Given the description of an element on the screen output the (x, y) to click on. 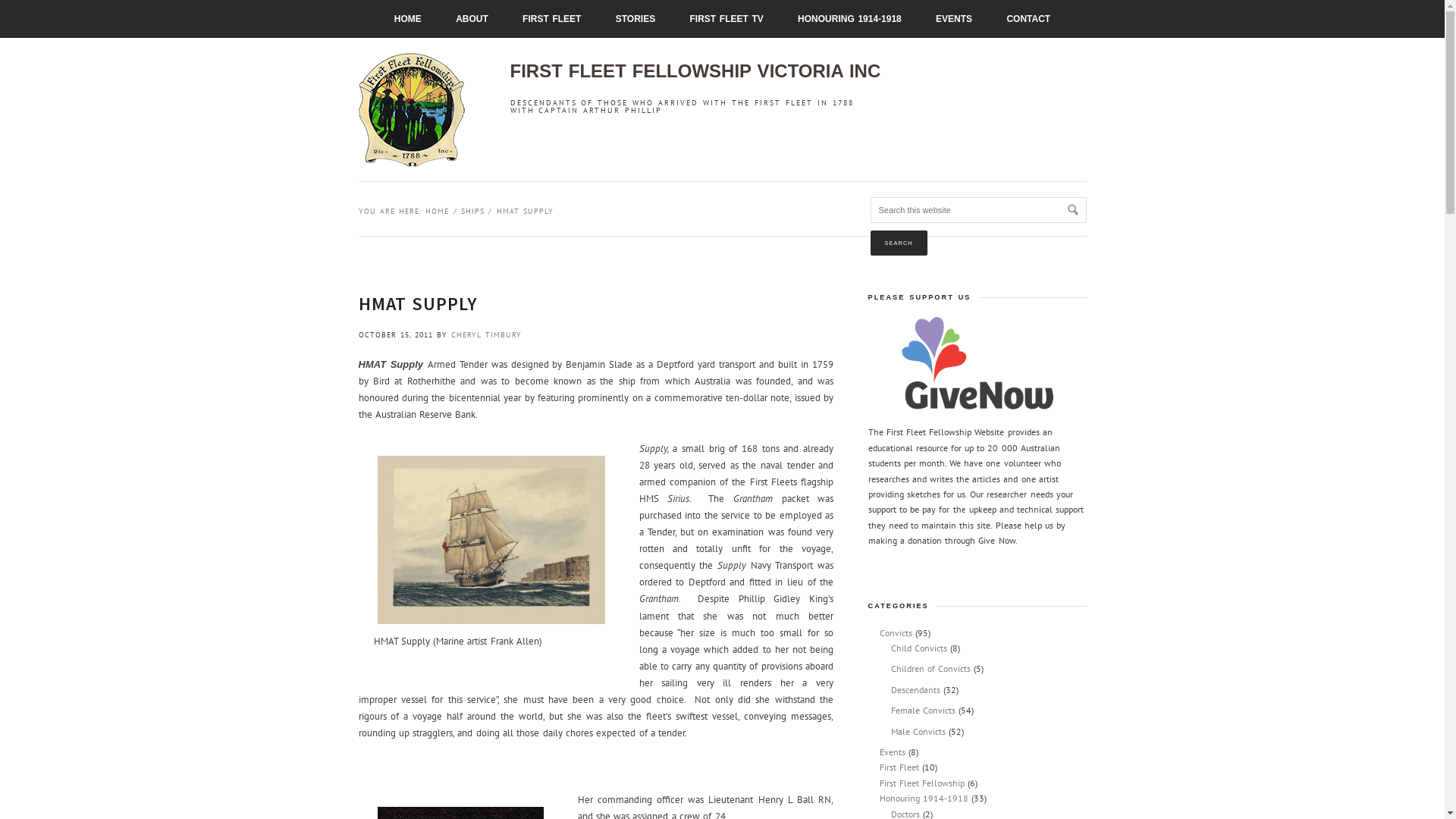
FIRST FLEET FELLOWSHIP VICTORIA INC Element type: text (694, 71)
FIRST FLEET Element type: text (551, 18)
Honouring 1914-1918 Element type: text (923, 797)
HOME Element type: text (436, 211)
HOME Element type: text (407, 18)
Female Convicts Element type: text (922, 709)
ABOUT Element type: text (471, 18)
CHERYL TIMBURY Element type: text (485, 334)
First Fleet Element type: text (899, 766)
FIRST FLEET TV Element type: text (726, 18)
Convicts Element type: text (895, 632)
SHIPS Element type: text (472, 211)
CONTACT Element type: text (1028, 18)
Events Element type: text (892, 751)
Search Element type: text (898, 242)
STORIES Element type: text (635, 18)
Male Convicts Element type: text (917, 731)
First Fleet Fellowship Element type: text (922, 782)
Children of Convicts Element type: text (930, 668)
Descendants Element type: text (914, 689)
HMS 'Supply' Element type: hover (491, 539)
Child Convicts Element type: text (918, 647)
HONOURING 1914-1918 Element type: text (849, 18)
EVENTS Element type: text (953, 18)
